Given the description of an element on the screen output the (x, y) to click on. 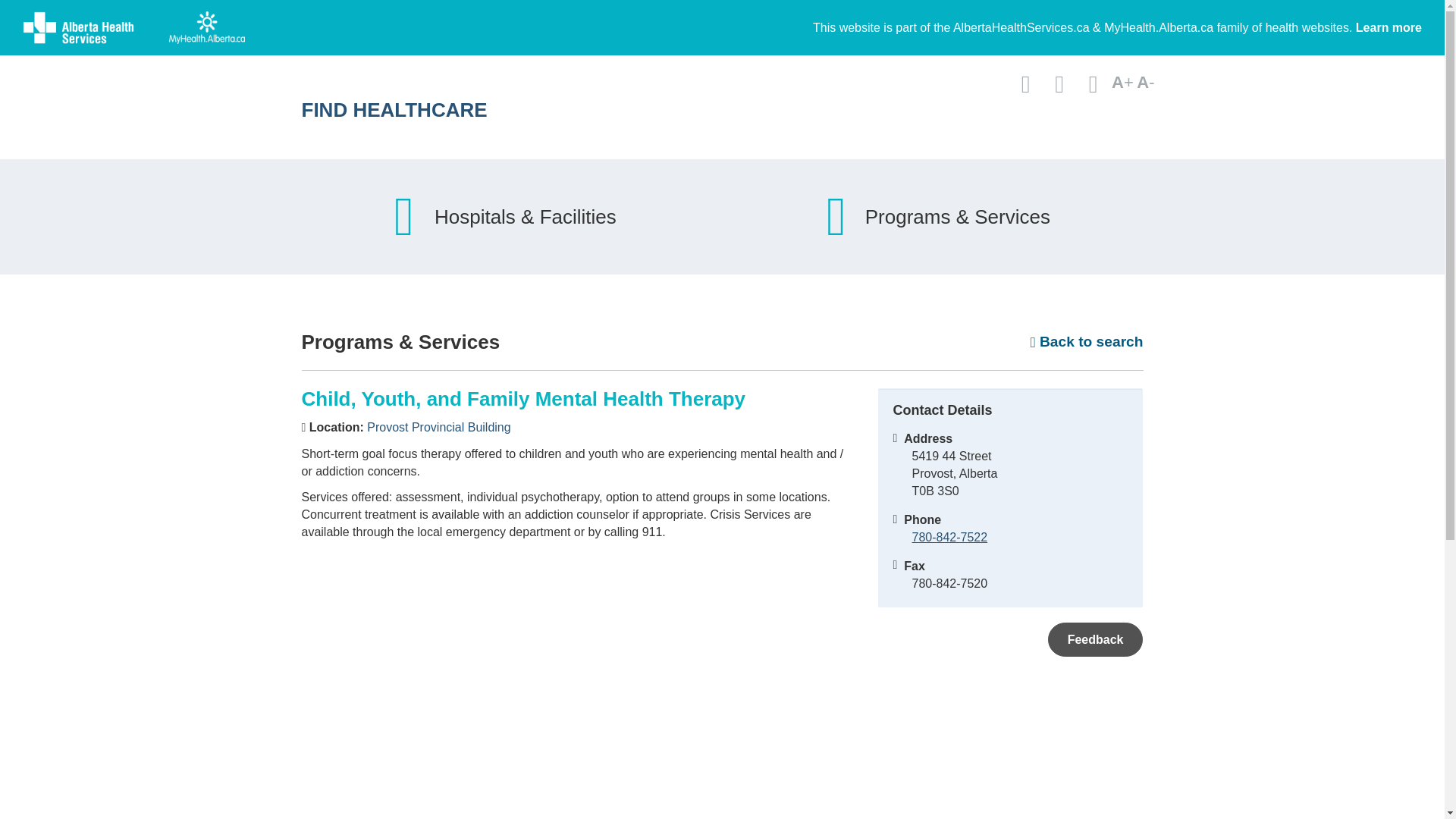
Back to search (1086, 341)
Provost Provincial Building (438, 427)
Learn more (1388, 27)
A- (1145, 81)
FIND HEALTHCARE (574, 110)
